Given the description of an element on the screen output the (x, y) to click on. 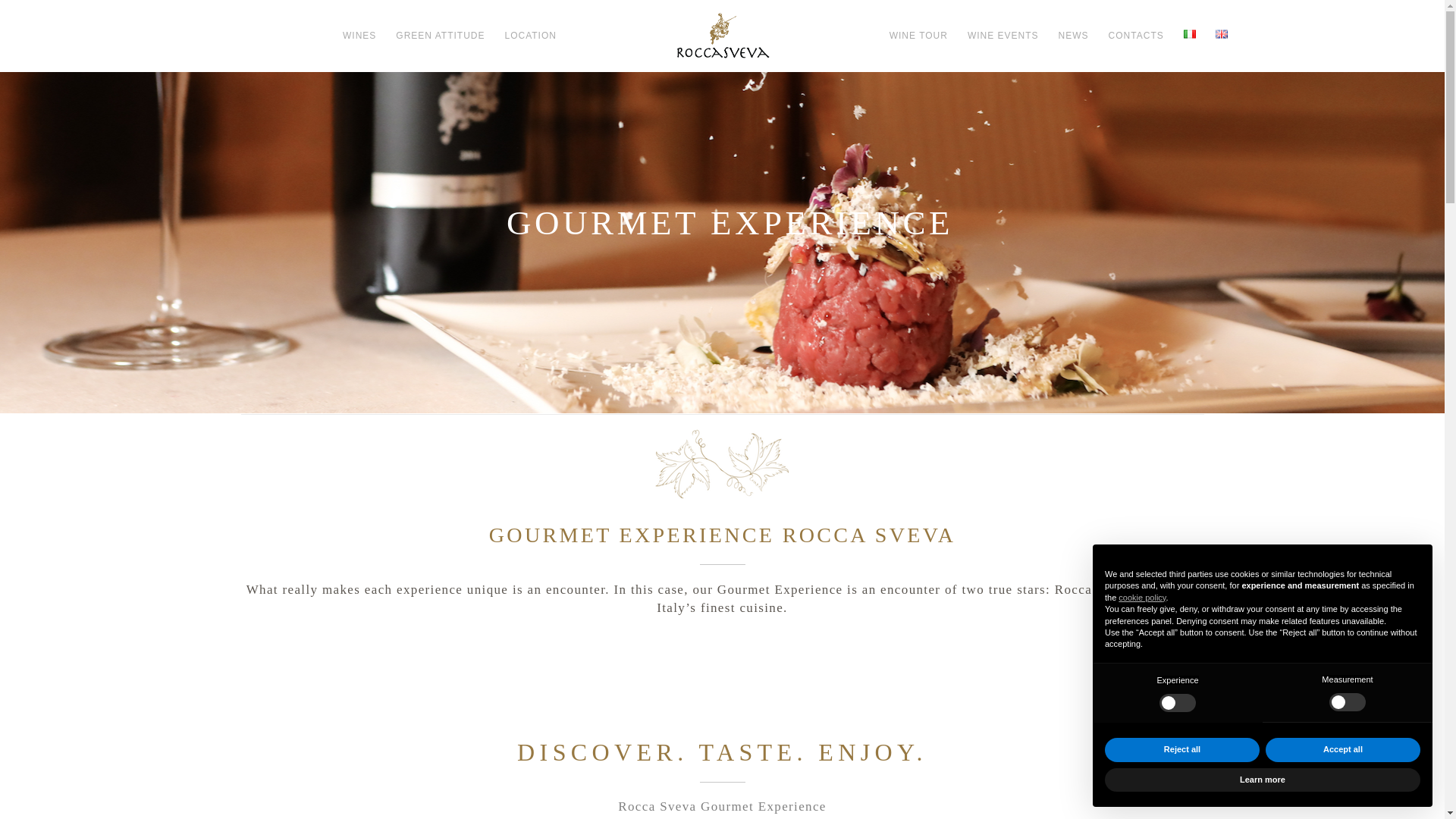
NEWS (1073, 35)
WINES (359, 35)
GREEN ATTITUDE (440, 35)
false (1347, 701)
false (1176, 702)
LOCATION (530, 35)
CONTACTS (1136, 35)
WINE TOUR (918, 35)
WINE EVENTS (1003, 35)
